Given the description of an element on the screen output the (x, y) to click on. 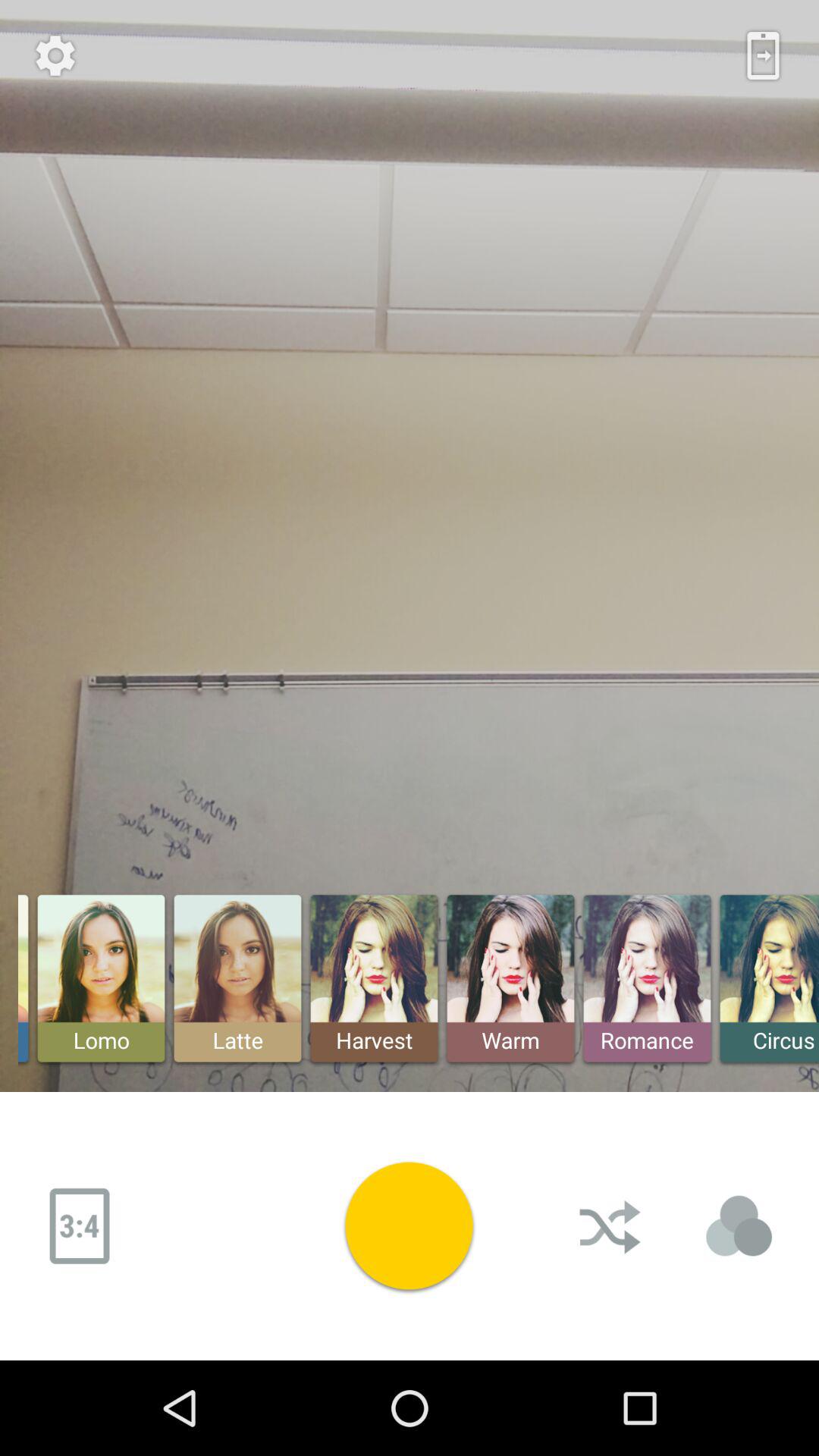
options (55, 55)
